Given the description of an element on the screen output the (x, y) to click on. 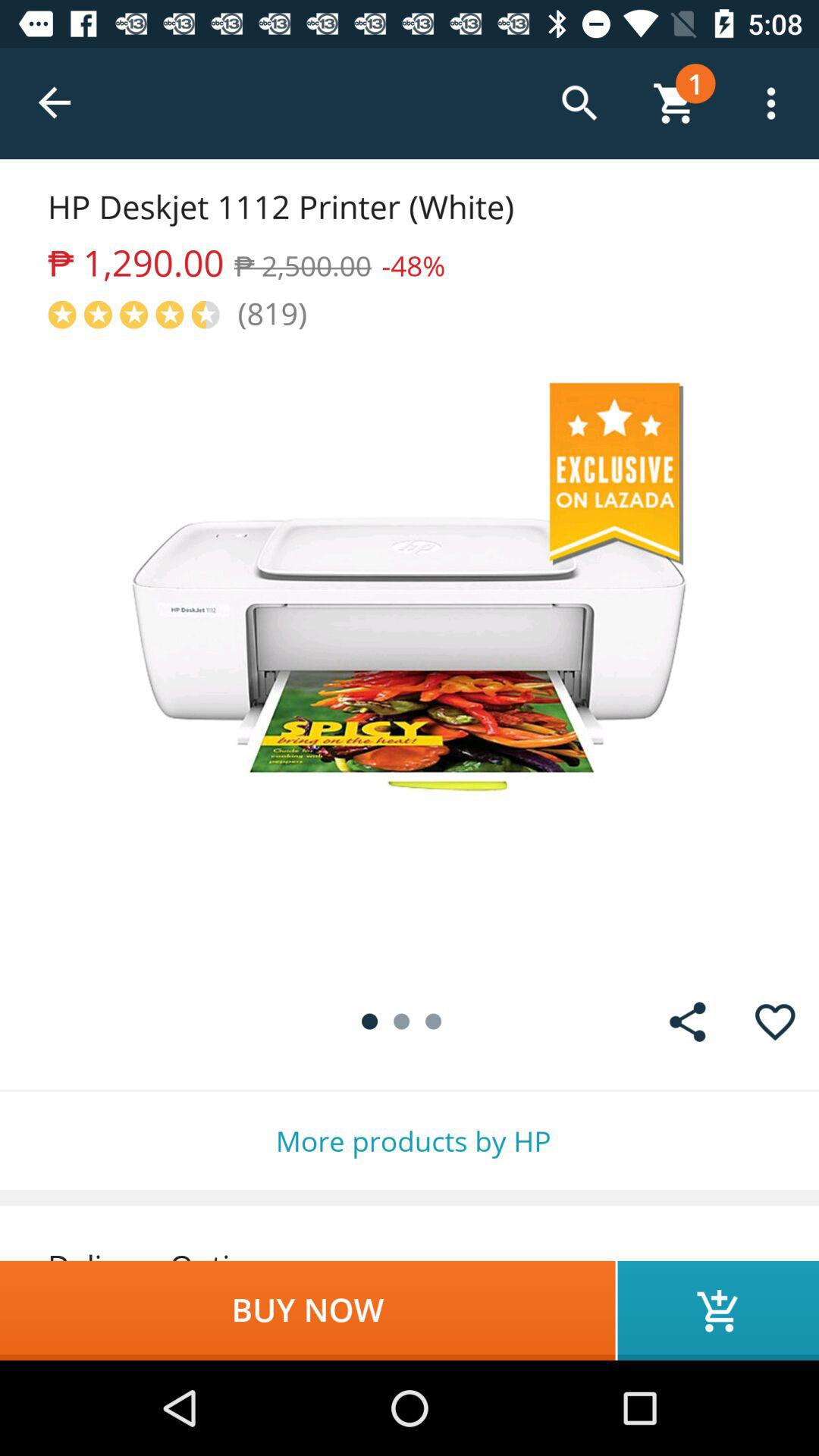
zoom image (409, 655)
